Given the description of an element on the screen output the (x, y) to click on. 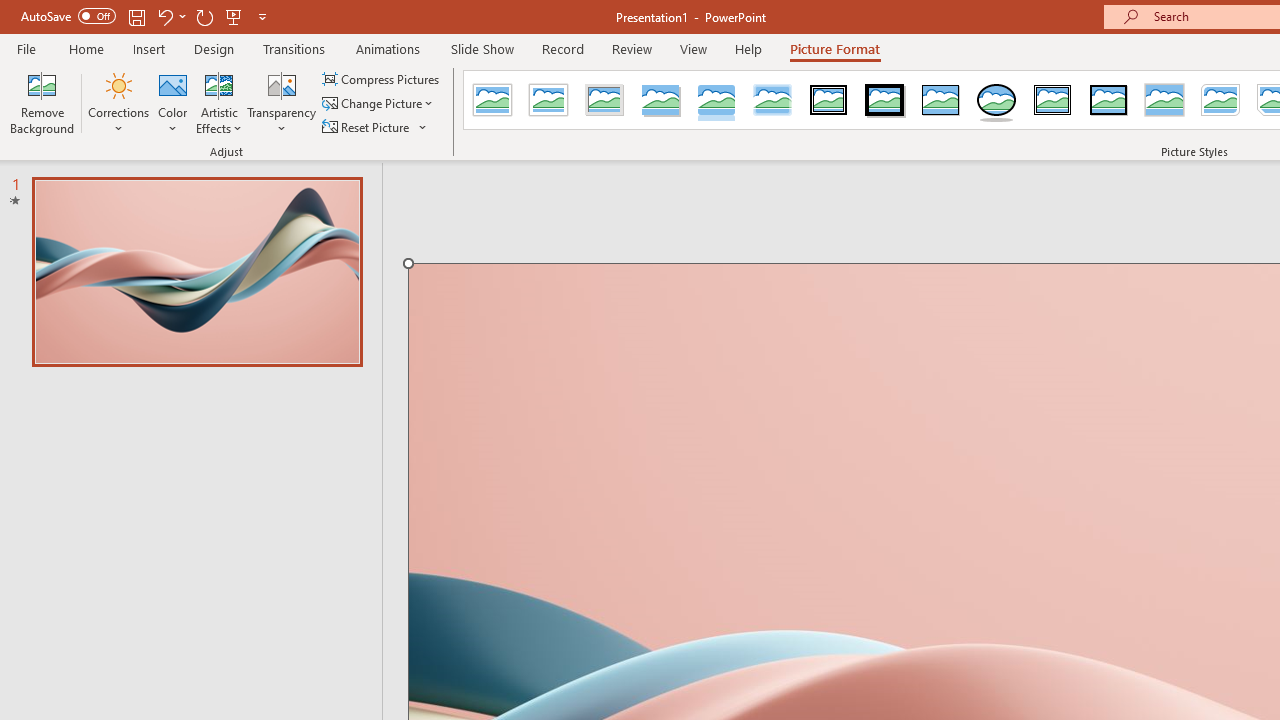
Color (173, 102)
Simple Frame, Black (940, 100)
Transparency (281, 102)
Reflected Rounded Rectangle (716, 100)
Reset Picture (367, 126)
Center Shadow Rectangle (1164, 100)
Double Frame, Black (829, 100)
